Given the description of an element on the screen output the (x, y) to click on. 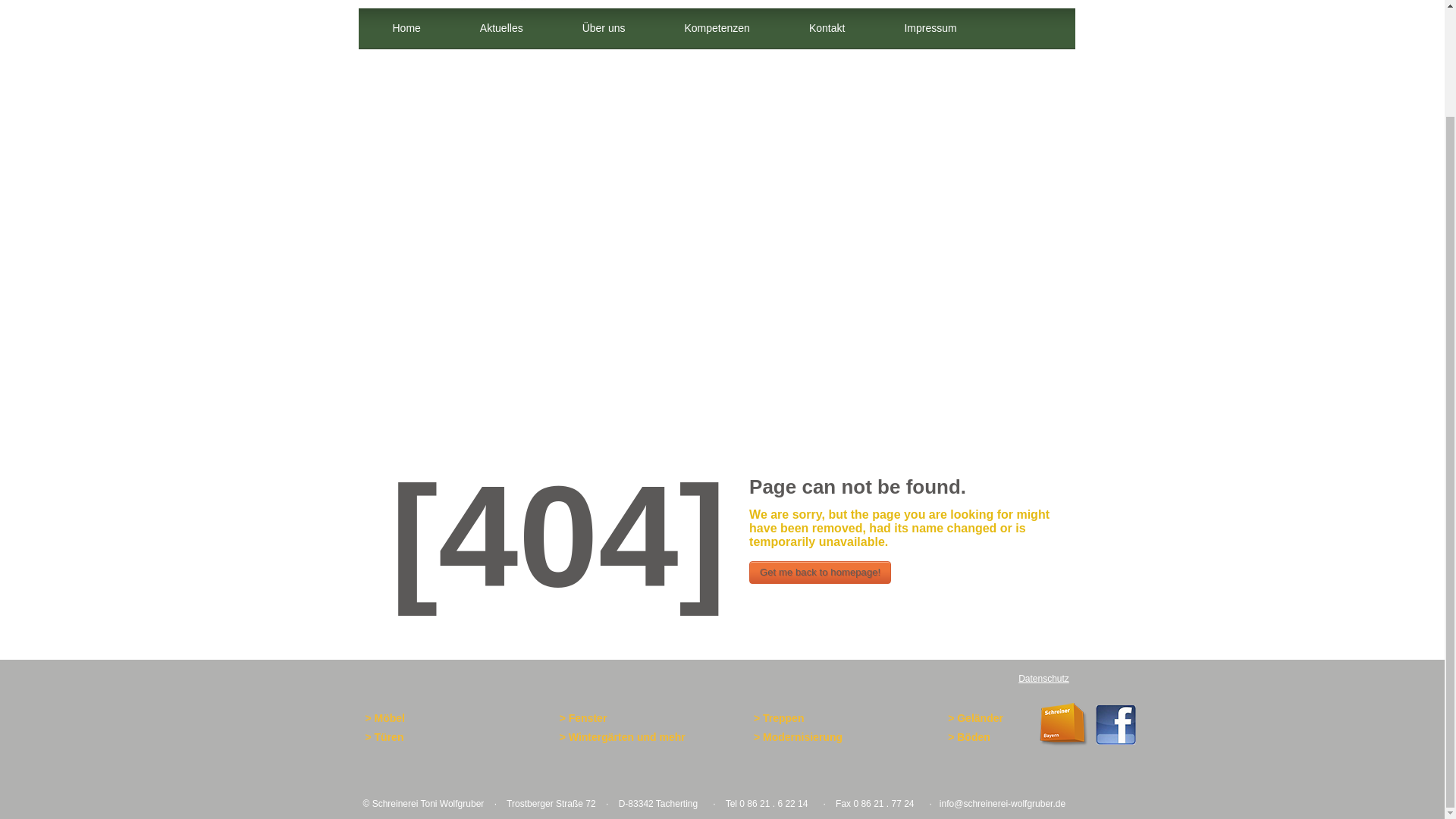
Kontakt (826, 28)
Datenschutz (1042, 678)
Home (406, 28)
Kompetenzen (716, 28)
Get me back to homepage! (820, 572)
Aktuelles (501, 28)
Impressum (930, 28)
search (1034, 47)
search (1034, 47)
